Given the description of an element on the screen output the (x, y) to click on. 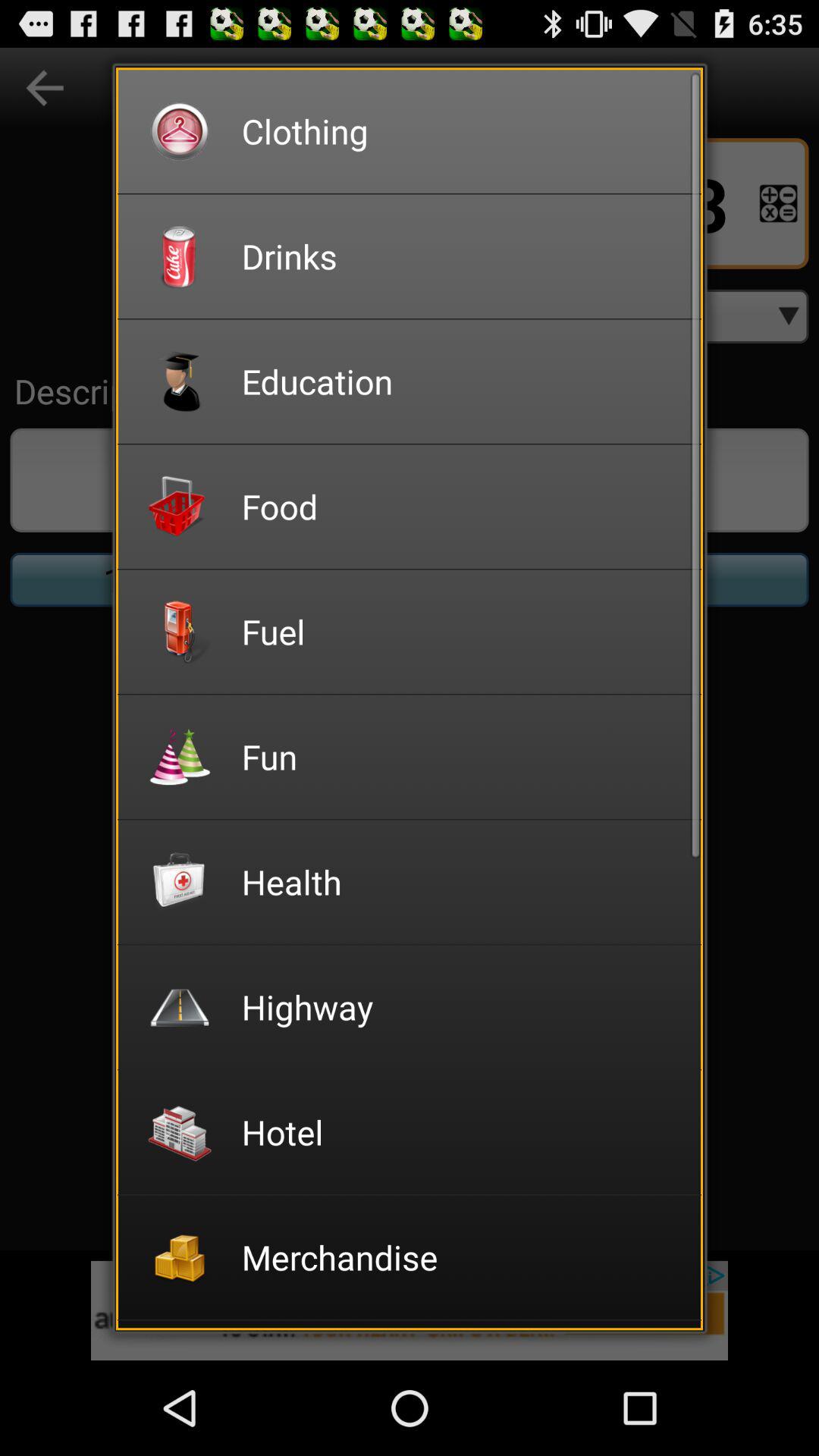
click health item (461, 881)
